Given the description of an element on the screen output the (x, y) to click on. 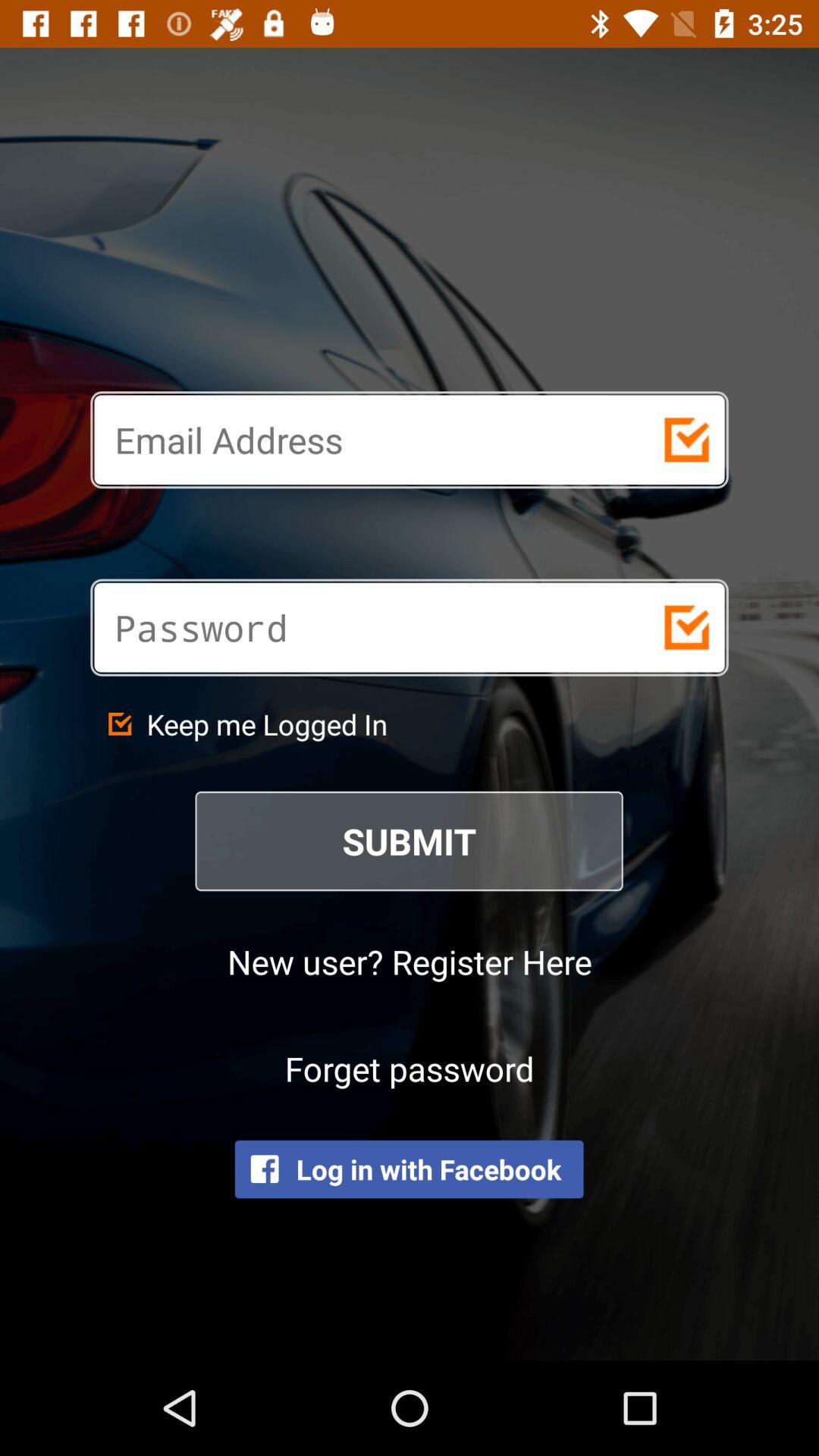
turn on icon above the log in with icon (409, 1068)
